Given the description of an element on the screen output the (x, y) to click on. 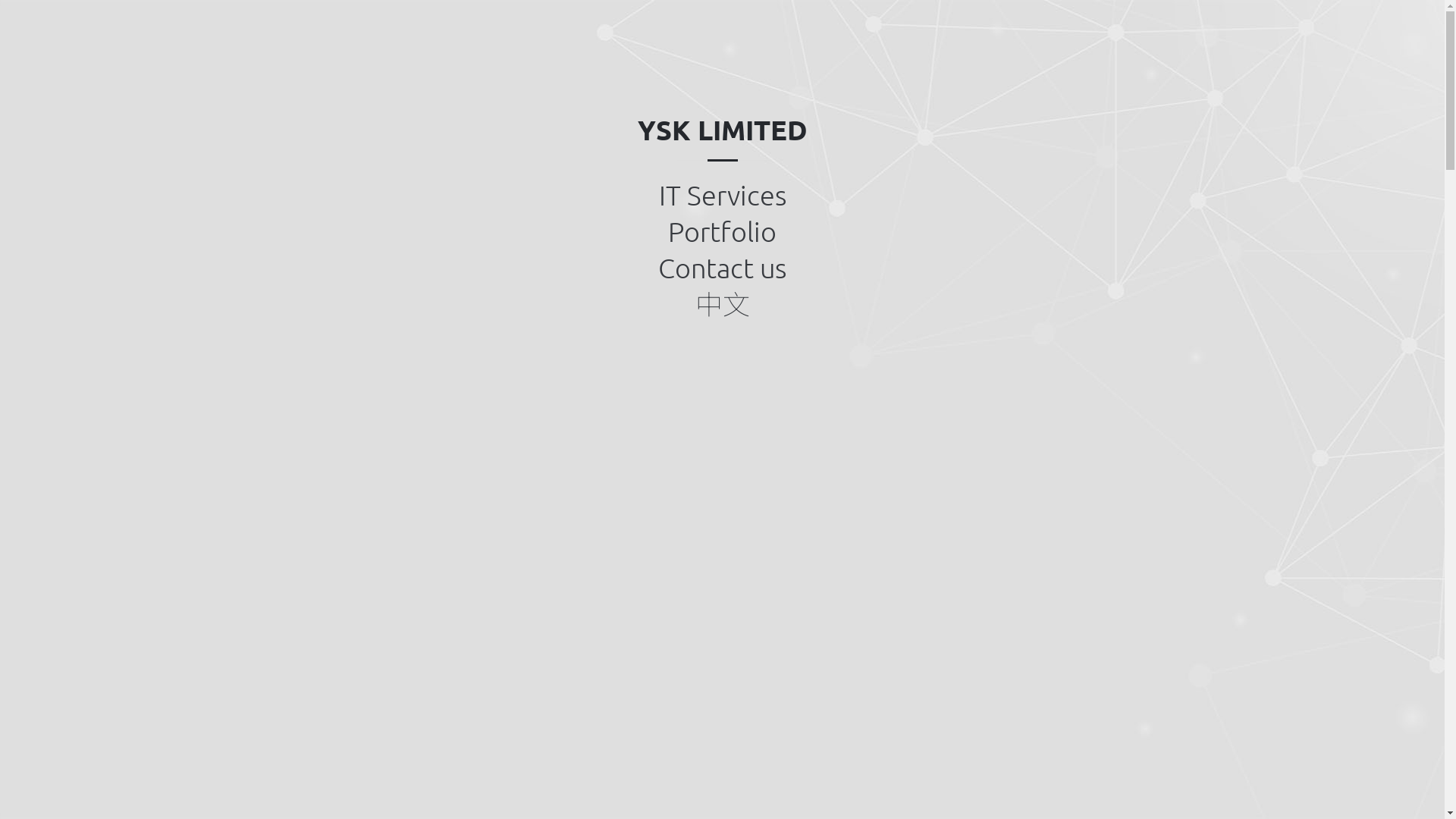
Contact us Element type: text (722, 267)
Portfolio Element type: text (722, 231)
IT Services Element type: text (721, 194)
